Given the description of an element on the screen output the (x, y) to click on. 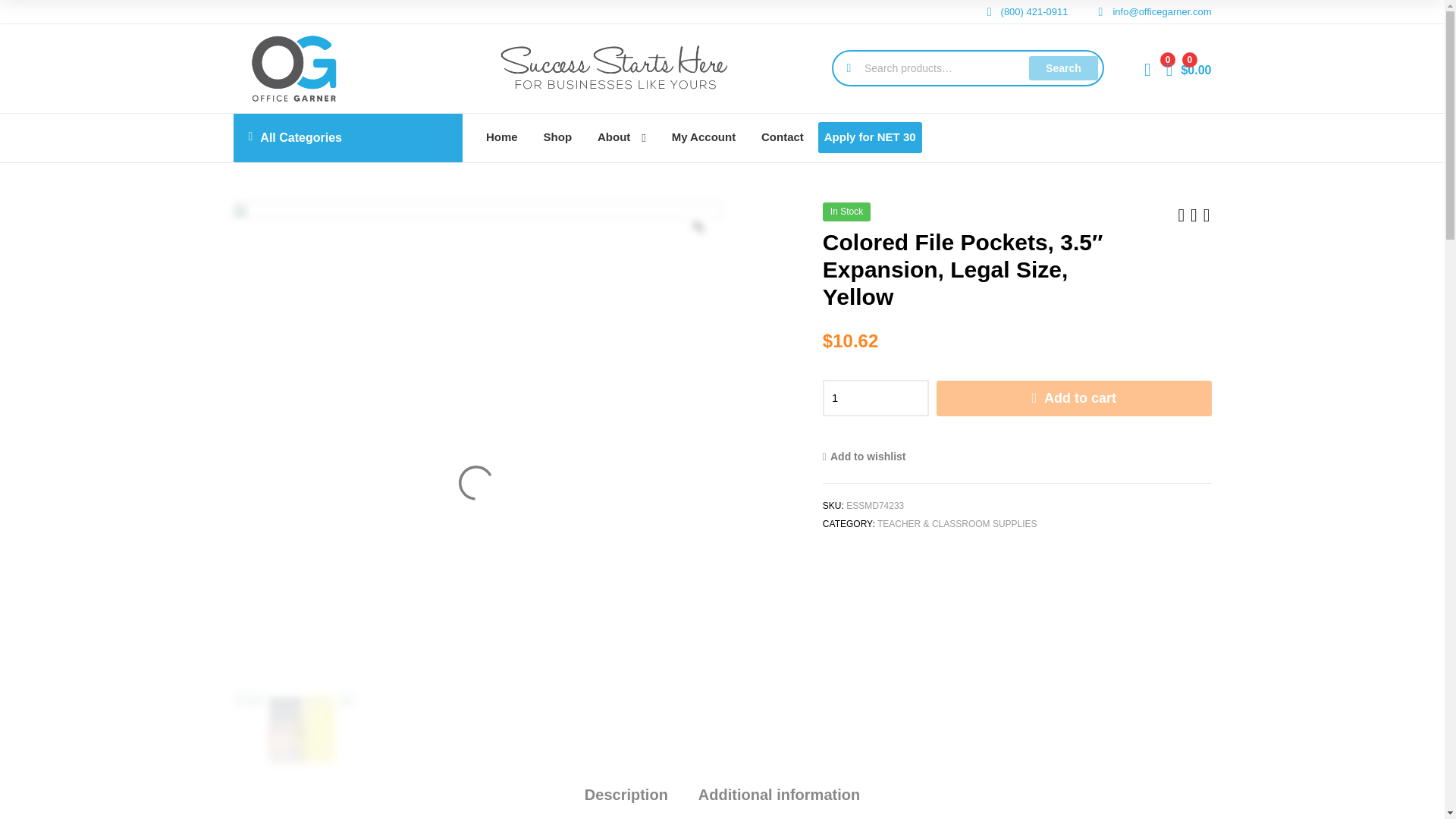
Add to cart (1073, 398)
Home (501, 137)
1 (875, 398)
Apply for NET 30 (869, 137)
Shop (557, 137)
Contact (782, 137)
ESSMD74233.jpg (240, 698)
Search (1063, 68)
About (622, 137)
